Given the description of an element on the screen output the (x, y) to click on. 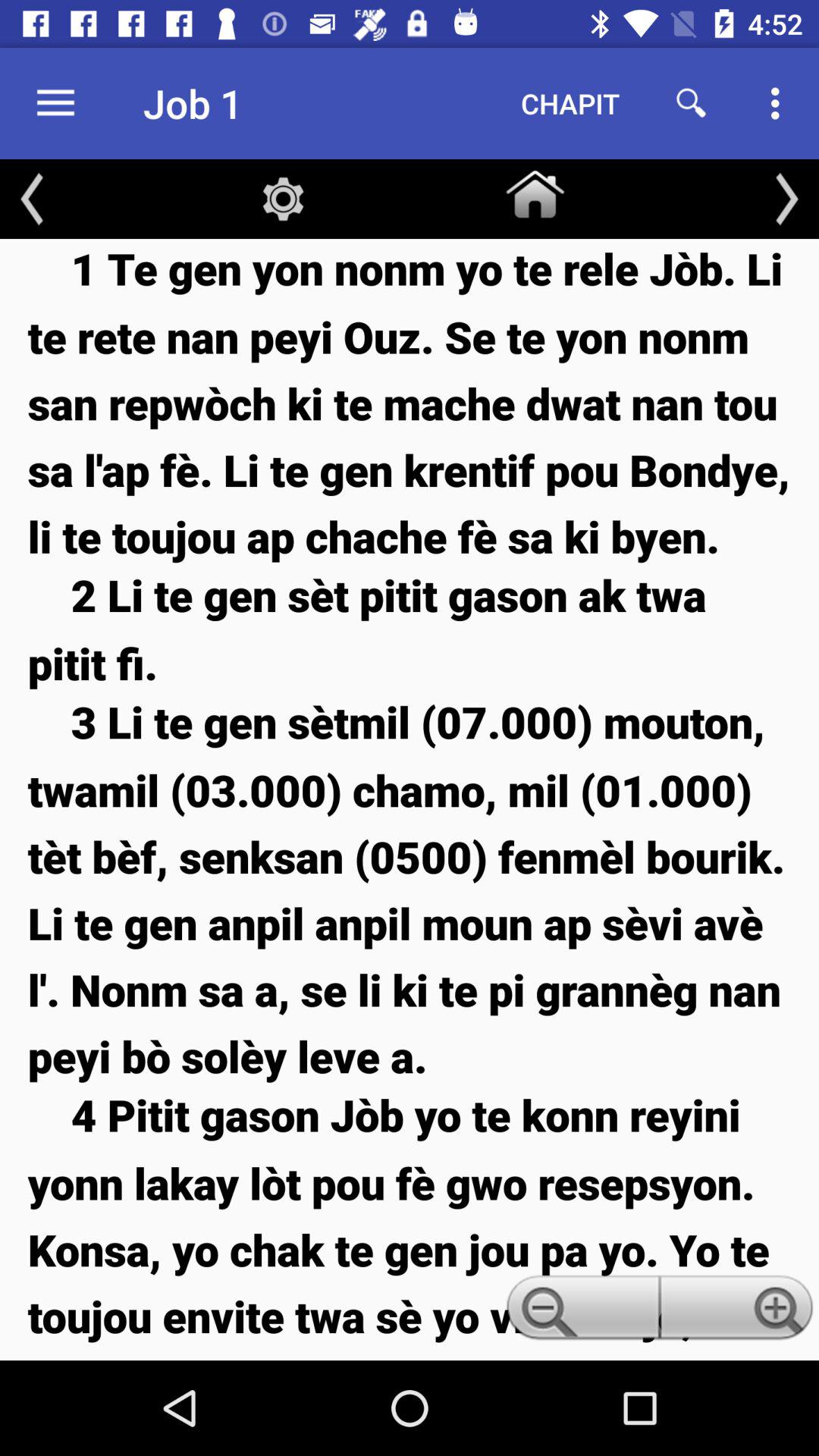
open icon below the chapit (535, 190)
